Given the description of an element on the screen output the (x, y) to click on. 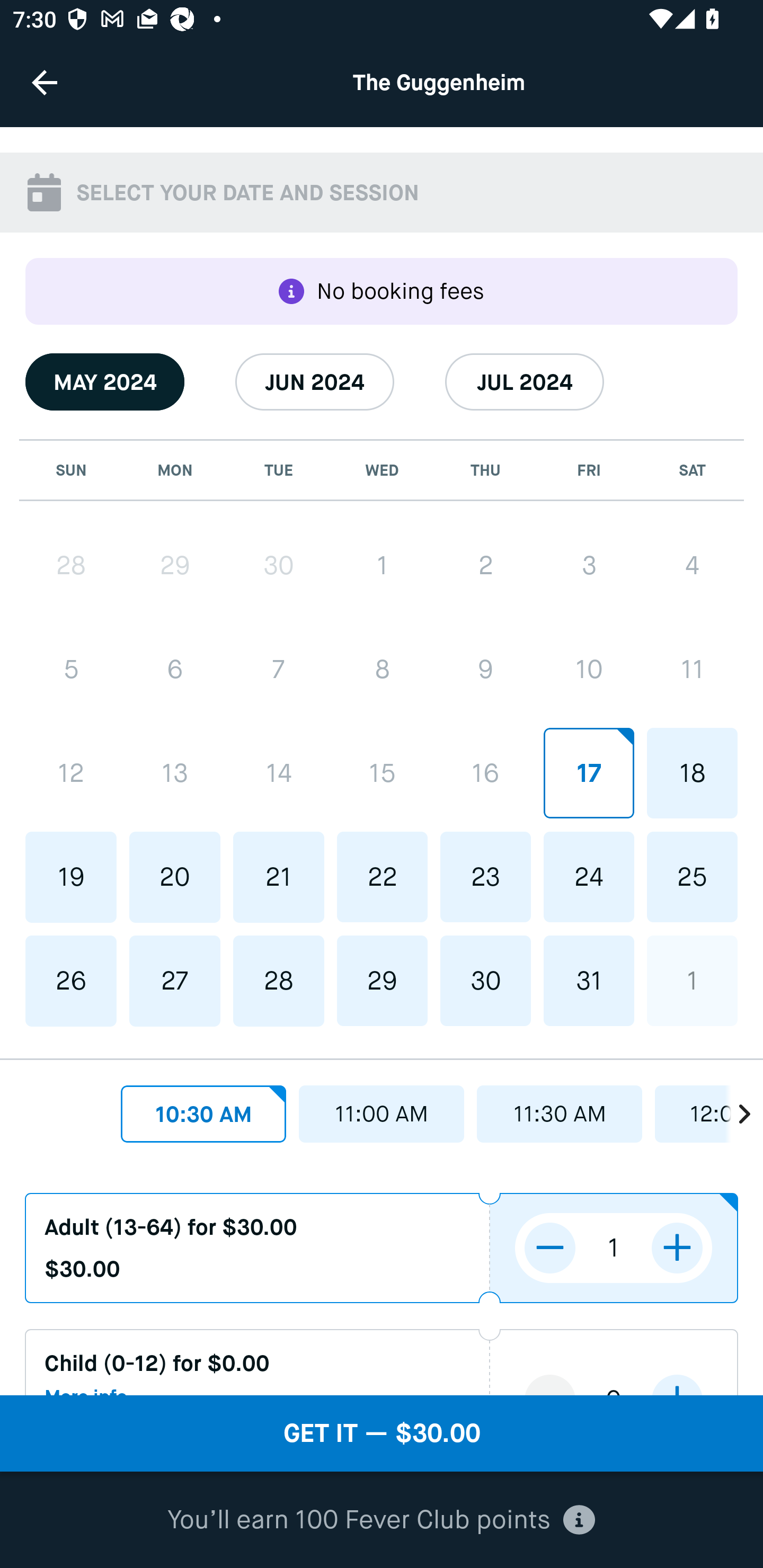
Navigate up (44, 82)
MAY 2024 (104, 381)
JUN 2024 (314, 381)
JUL 2024 (524, 381)
28 (70, 565)
29 (174, 565)
30 (278, 565)
1 (382, 565)
2 (485, 565)
3 (588, 565)
4 (692, 565)
5 (70, 669)
6 (174, 669)
7 (278, 669)
8 (382, 669)
9 (485, 669)
10 (588, 669)
11 (692, 669)
12 (70, 772)
13 (174, 772)
14 (278, 772)
15 (382, 772)
16 (485, 772)
17 (588, 772)
18 (692, 772)
19 (70, 877)
20 (174, 877)
21 (278, 877)
22 (382, 876)
23 (485, 876)
24 (588, 876)
25 (692, 876)
26 (70, 981)
27 (174, 981)
28 (278, 981)
29 (382, 980)
30 (485, 980)
31 (588, 980)
1 (692, 980)
10:30 AM (203, 1114)
11:00 AM (381, 1114)
11:30 AM (559, 1114)
decrease (549, 1247)
increase (677, 1247)
GET IT — $30.00 (381, 1433)
You’ll earn 100 Fever Club points (381, 1519)
